Given the description of an element on the screen output the (x, y) to click on. 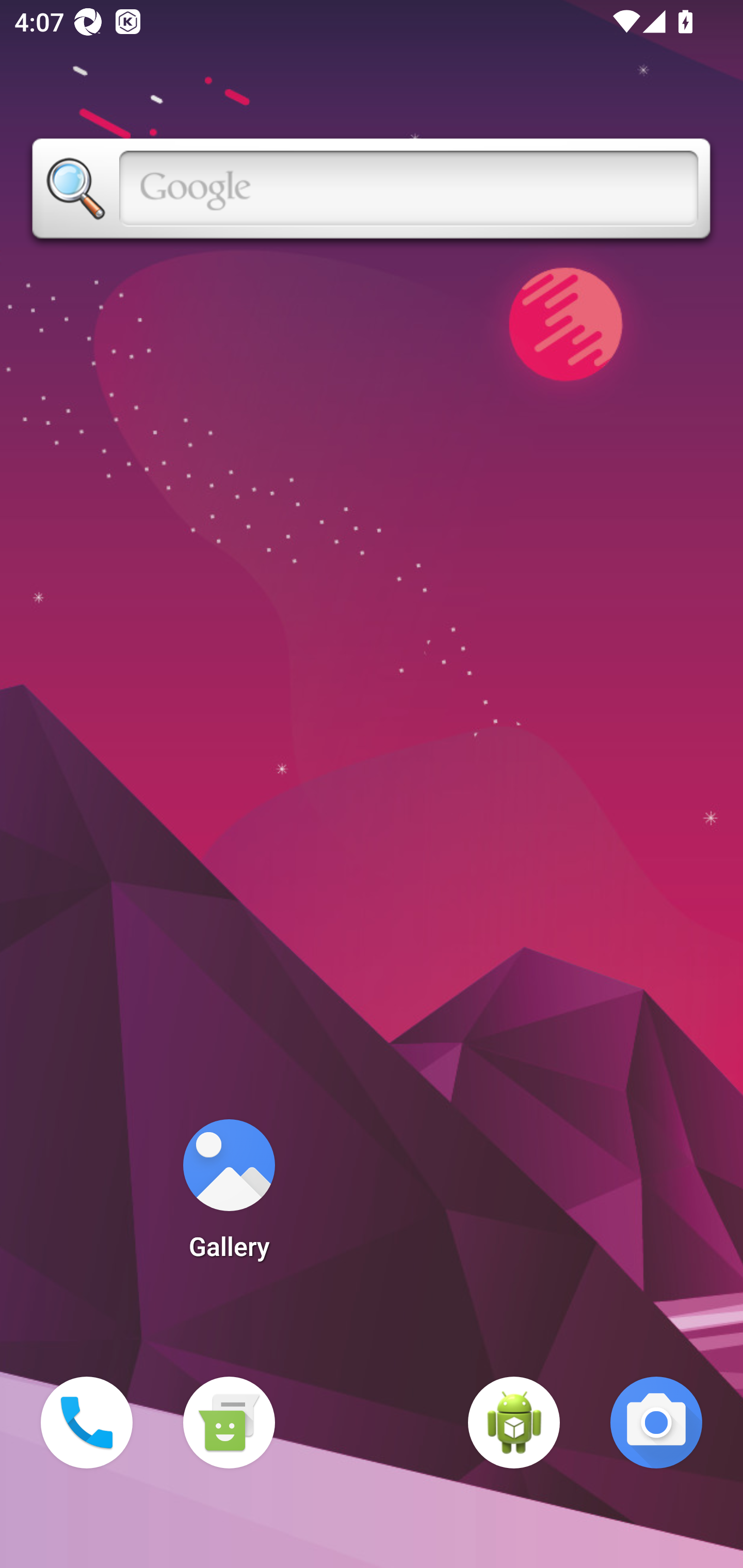
Gallery (228, 1195)
Phone (86, 1422)
Messaging (228, 1422)
WebView Browser Tester (513, 1422)
Camera (656, 1422)
